Given the description of an element on the screen output the (x, y) to click on. 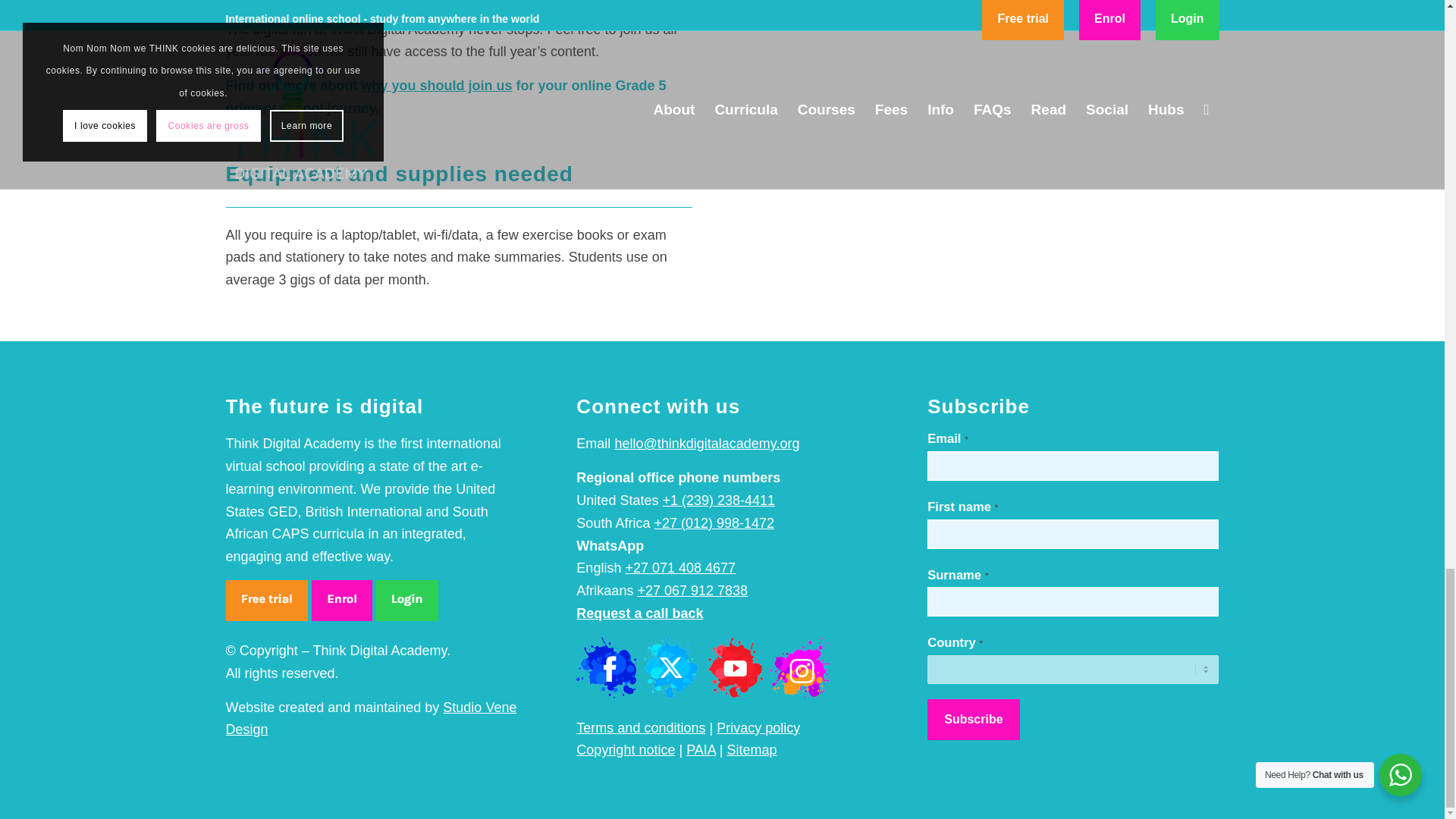
Subscribe (973, 719)
